Given the description of an element on the screen output the (x, y) to click on. 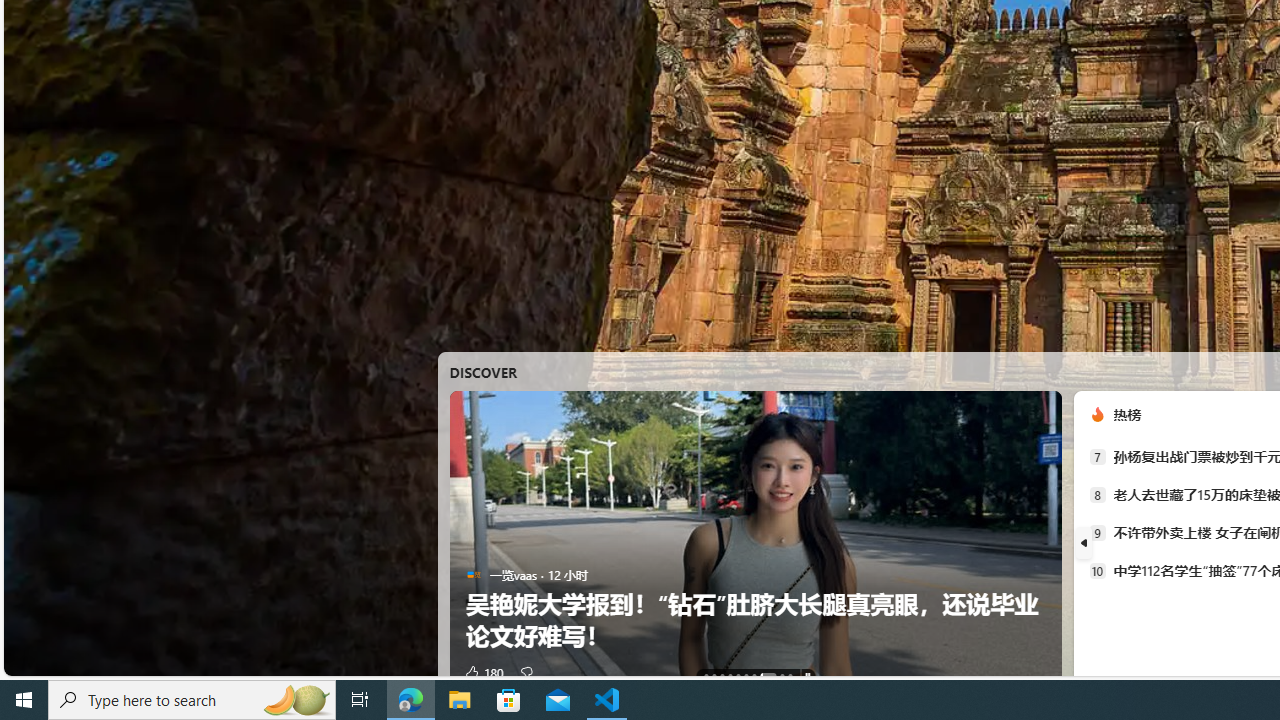
AutomationID: tab-8 (781, 675)
AutomationID: tab-2 (721, 675)
AutomationID: tab-6 (753, 675)
